Given the description of an element on the screen output the (x, y) to click on. 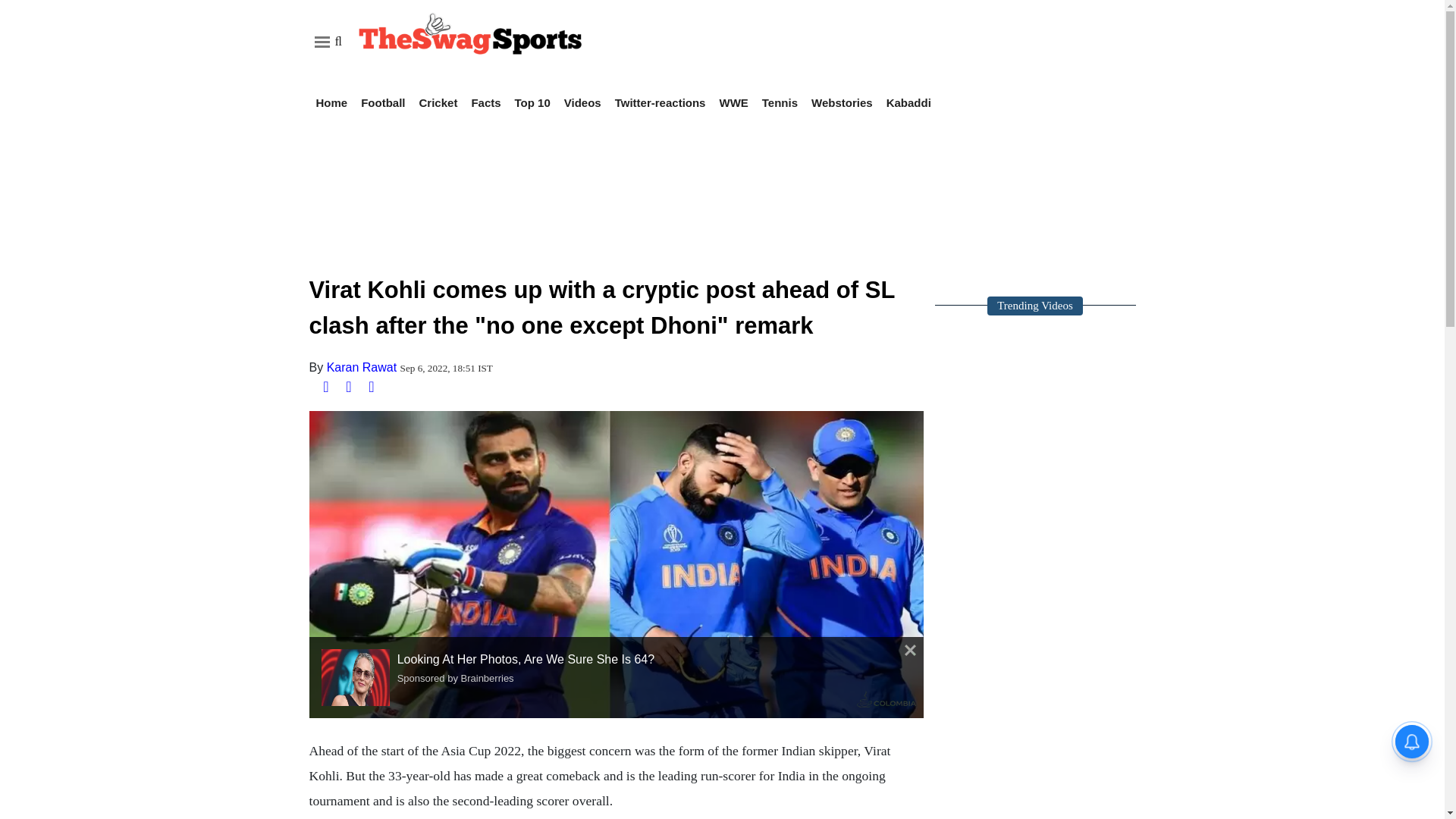
Looking At Her Photos, Are We Sure She Is 64? (359, 677)
Karan Rawat (361, 367)
Tennis (779, 102)
Videos (582, 102)
WWE (733, 102)
Cricket (438, 102)
Twitter-reactions (660, 102)
Football (382, 102)
Top 10 (532, 102)
Webstories (841, 102)
Home (331, 102)
Facts (485, 102)
Kabaddi (908, 102)
